Given the description of an element on the screen output the (x, y) to click on. 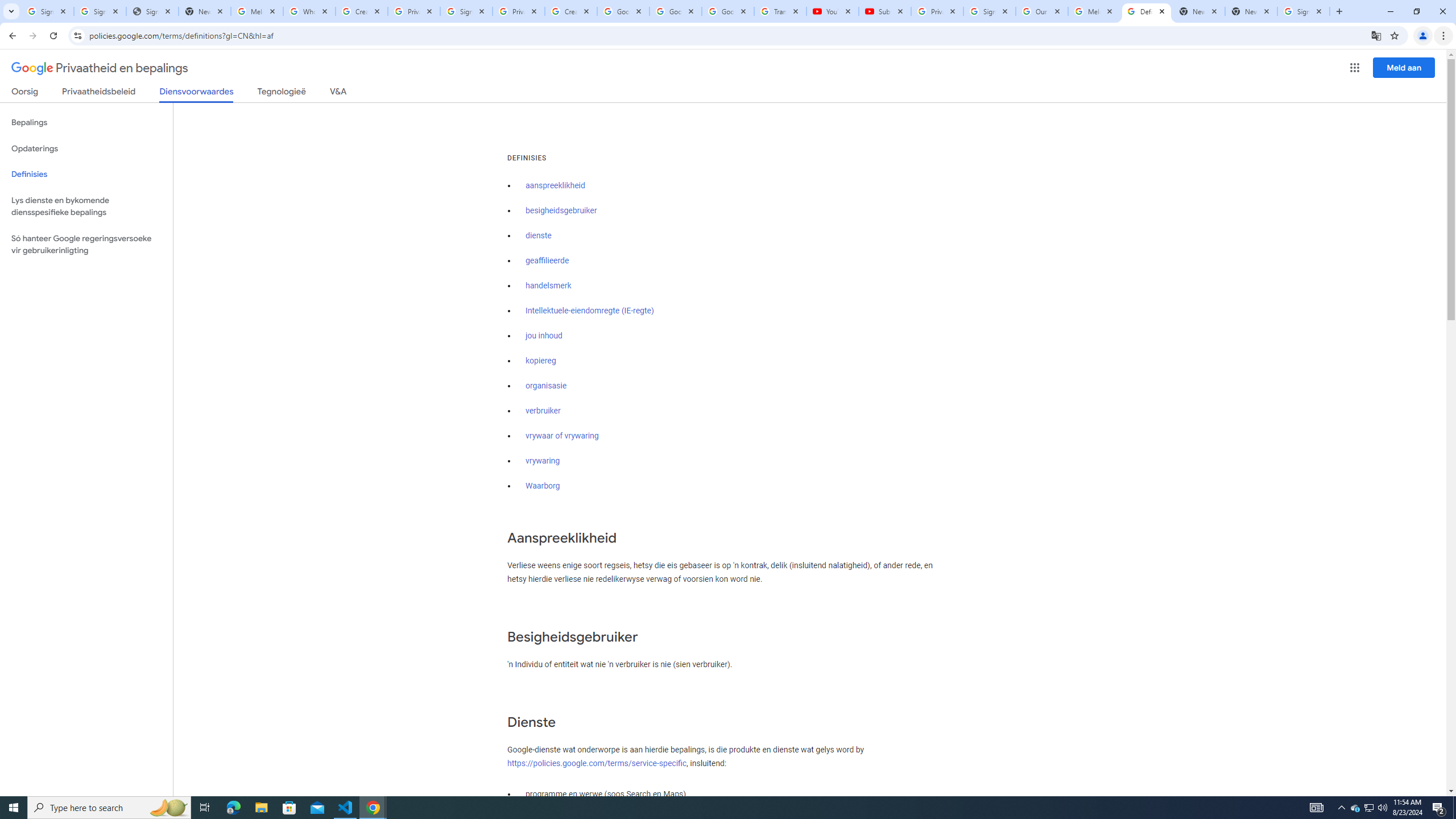
Create your Google Account (571, 11)
Meld aan (1404, 67)
YouTube (831, 11)
Who is my administrator? - Google Account Help (309, 11)
verbruiker (542, 411)
dienste (538, 235)
Diensvoorwaardes (196, 94)
Privaatheidsbeleid (98, 93)
